Given the description of an element on the screen output the (x, y) to click on. 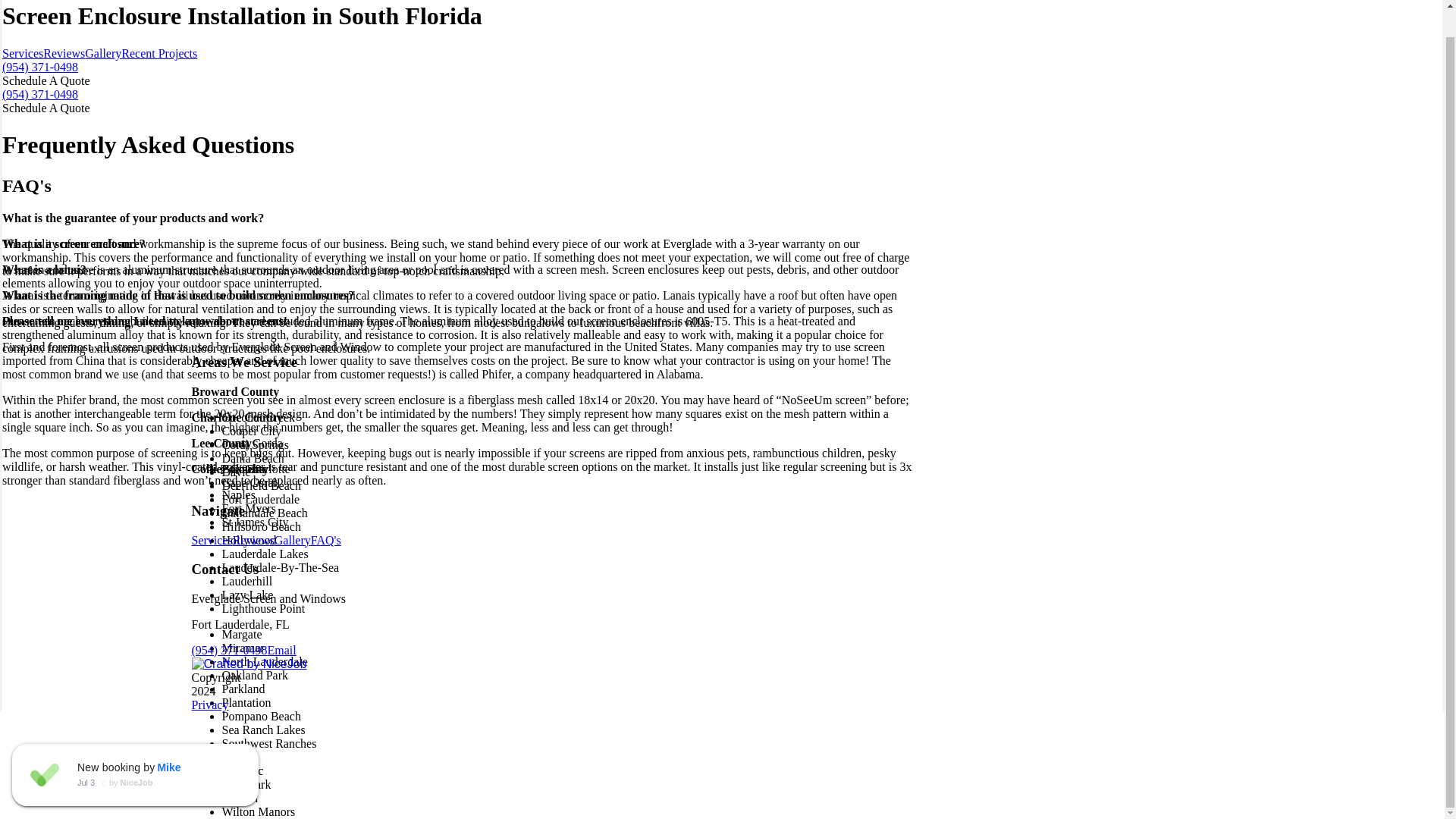
Privacy (209, 704)
Recent Projects (158, 52)
Schedule A Quote (46, 107)
Reviews (253, 540)
Schedule A Quote (46, 80)
FAQ's (325, 540)
Gallery (102, 52)
Services (22, 52)
Reviews (63, 52)
Gallery (293, 540)
Email (280, 649)
Services (210, 540)
